Given the description of an element on the screen output the (x, y) to click on. 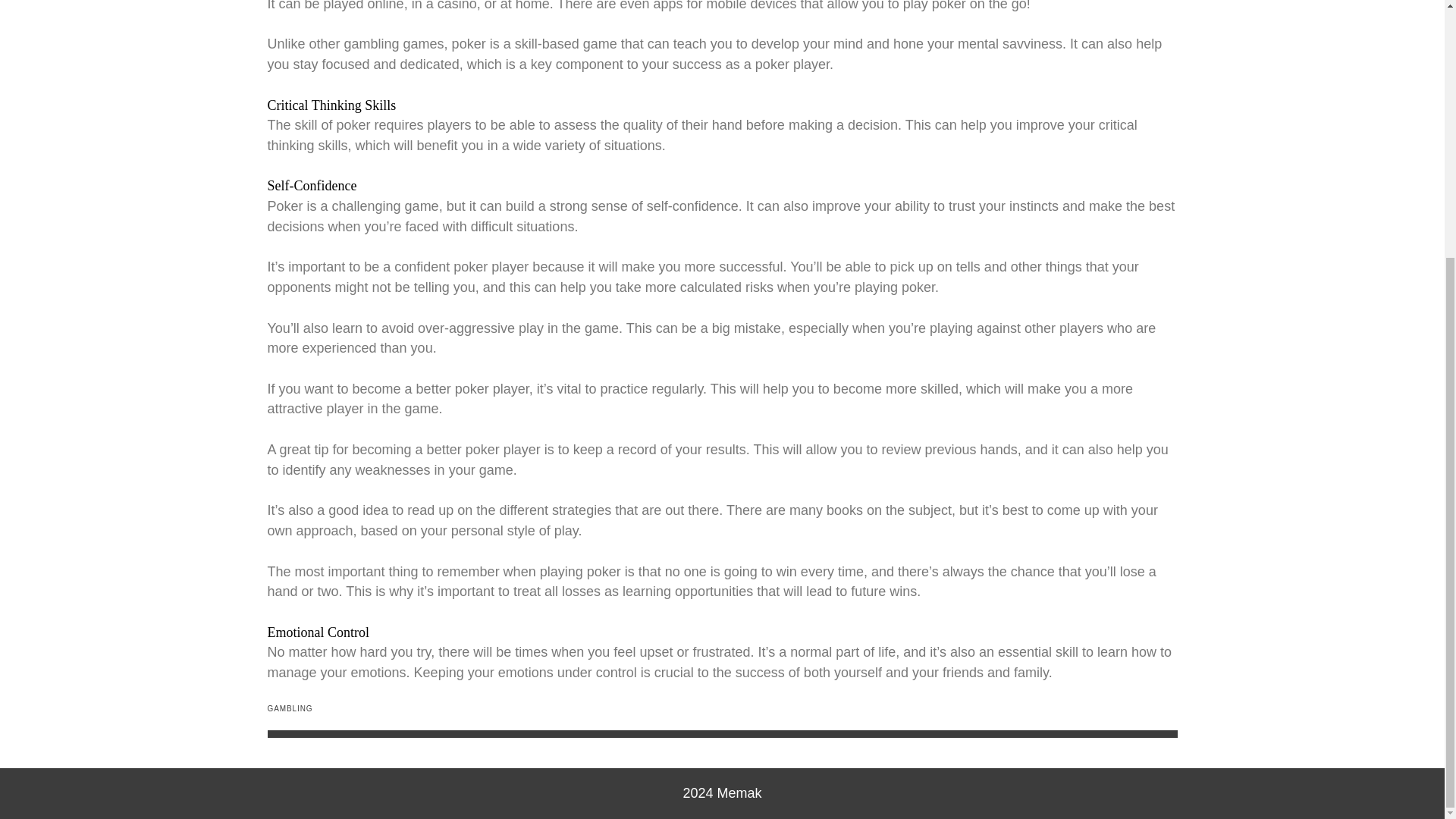
GAMBLING (289, 708)
